Given the description of an element on the screen output the (x, y) to click on. 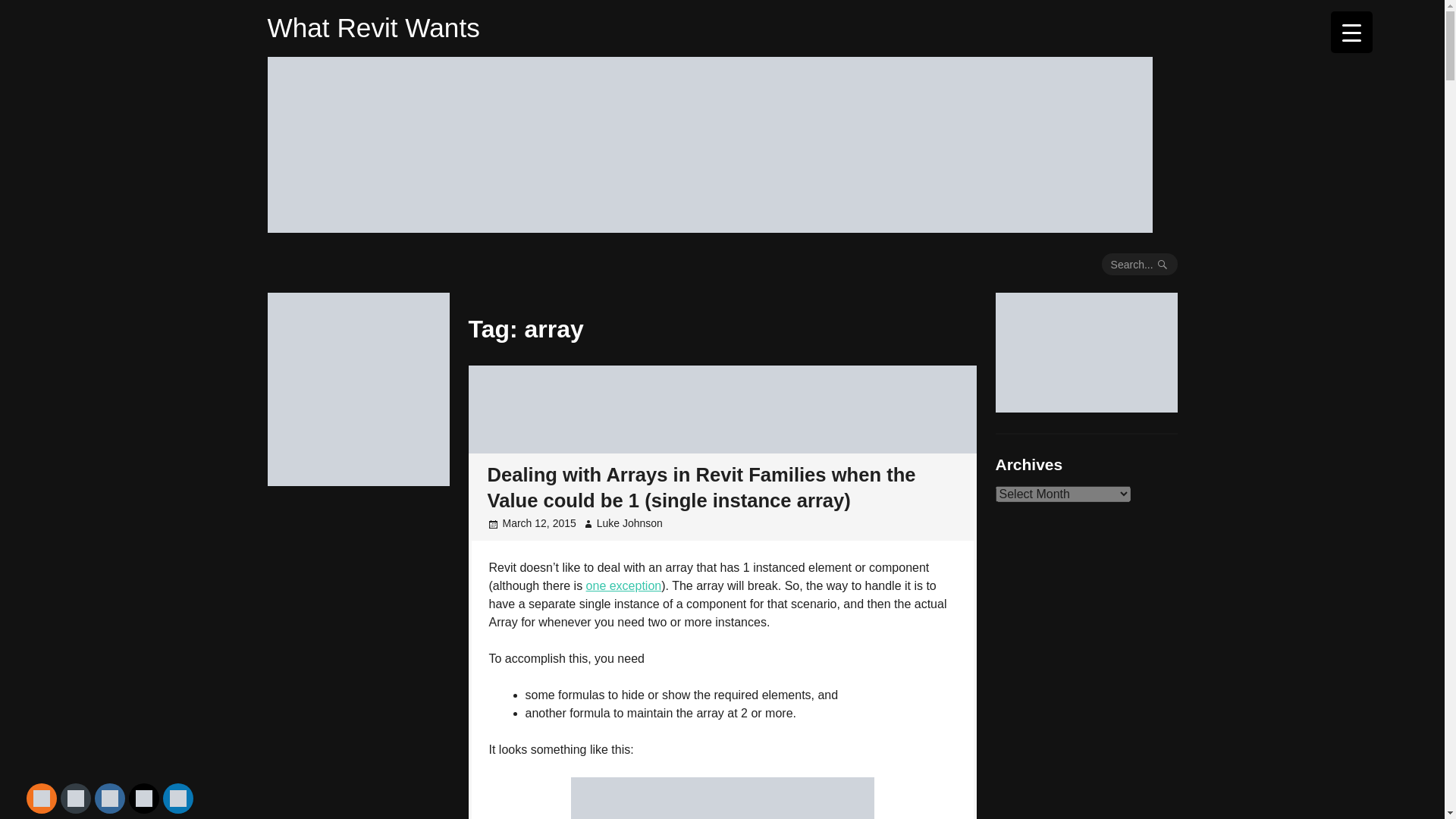
Search... (1139, 264)
one exception (624, 585)
wrw (1085, 406)
Deep Space (357, 480)
Luke Johnson (629, 522)
What Revit Wants (372, 27)
March 12, 2015 (538, 522)
